Given the description of an element on the screen output the (x, y) to click on. 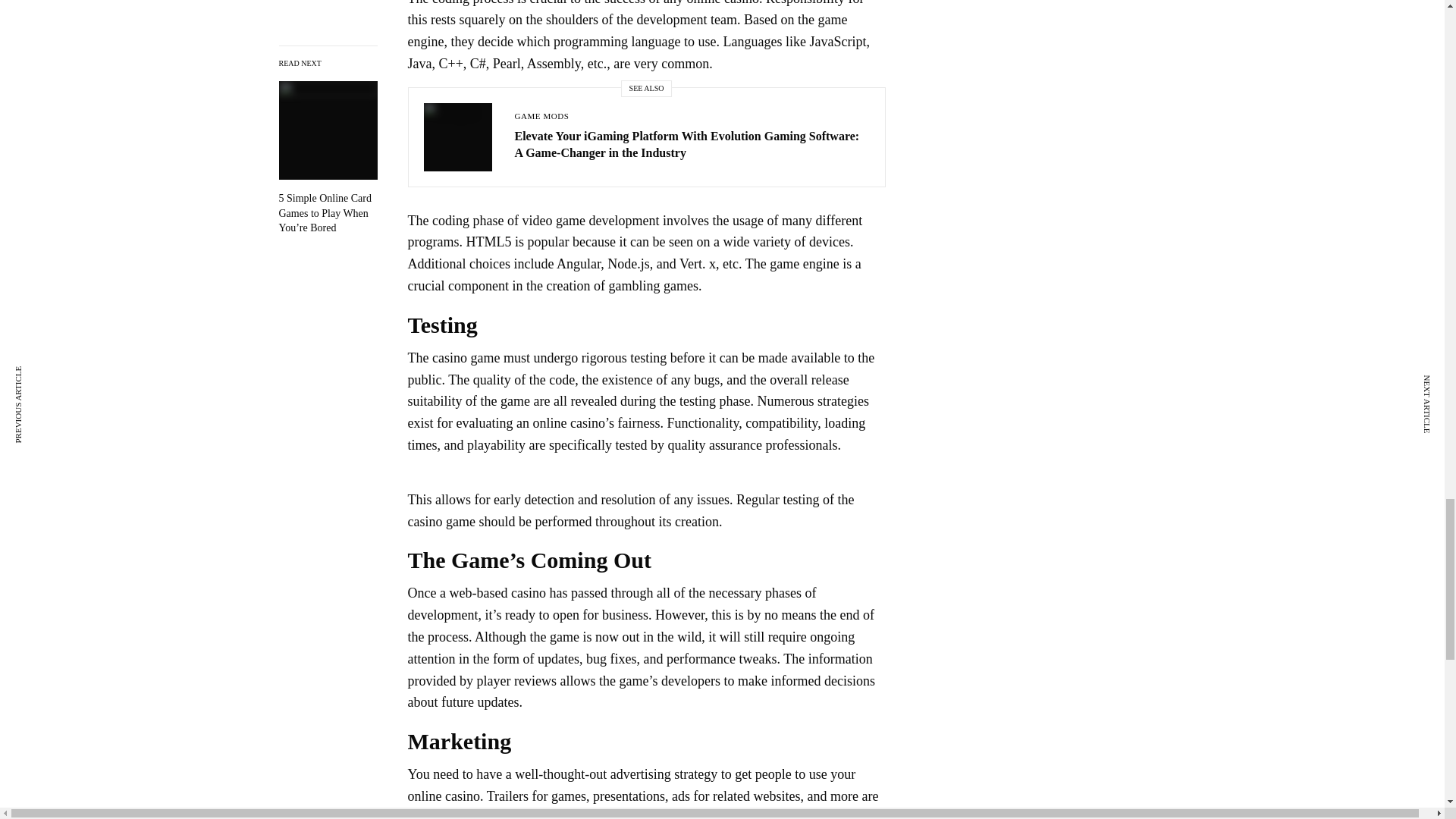
GAME MODS (541, 115)
